Given the description of an element on the screen output the (x, y) to click on. 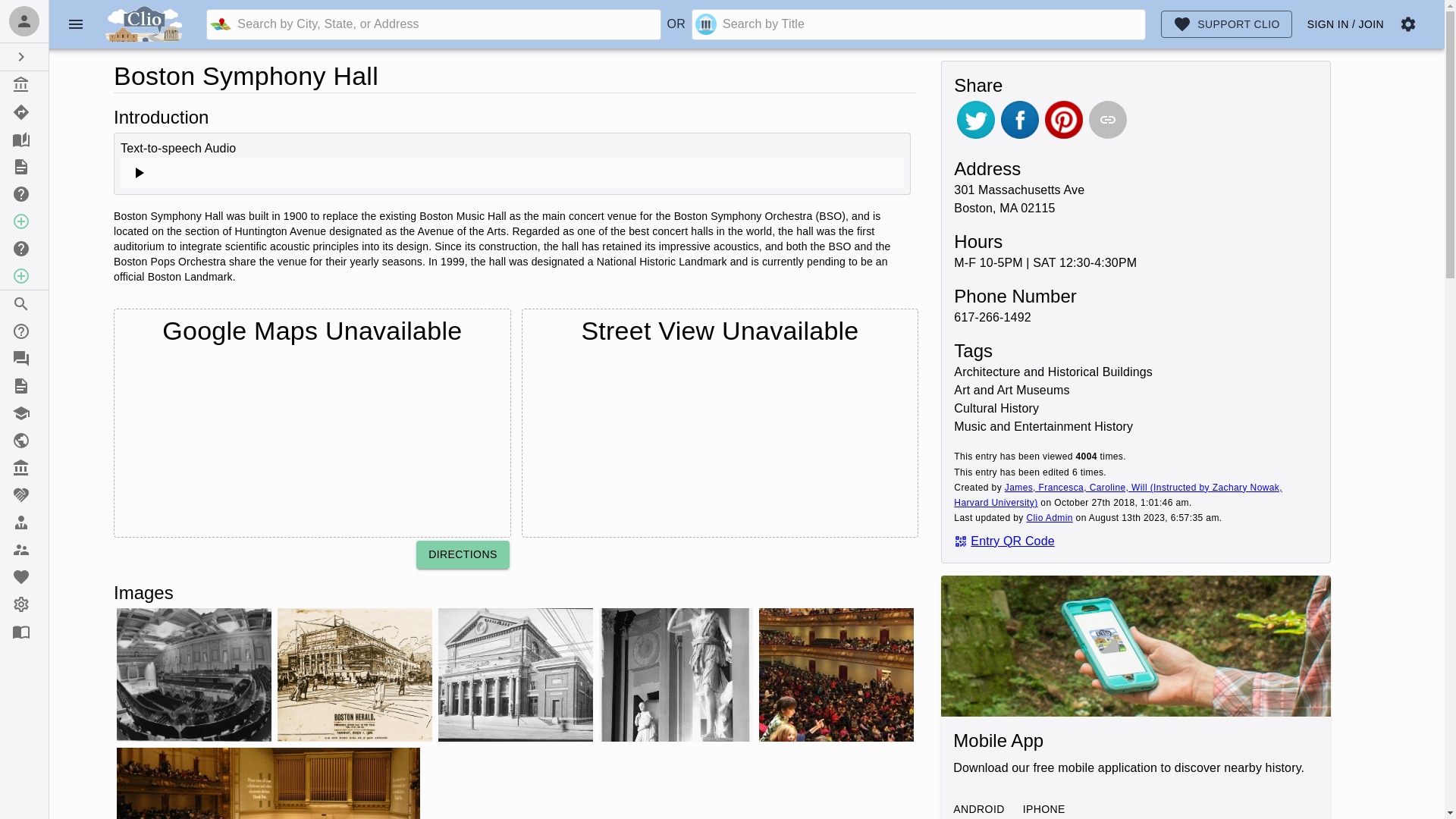
Search (24, 303)
Individual Entries (24, 84)
Guides, Videos, and Rubrics (24, 166)
DIRECTIONS (462, 554)
How to Create an Entry (24, 194)
FAQs (24, 358)
Explore By Topic (24, 139)
Guides, Videos, and Rubrics (24, 385)
About Clio (24, 330)
Open Drawer (24, 56)
Tours (24, 112)
How to Create a Tour (24, 248)
Grant Resources (24, 494)
SUPPORT CLIO (1226, 24)
Login (24, 21)
